Given the description of an element on the screen output the (x, y) to click on. 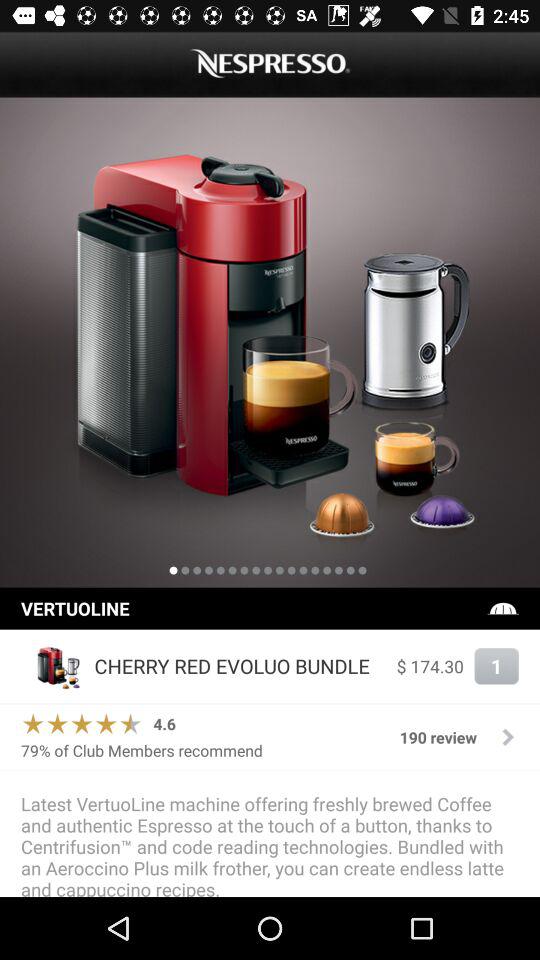
press the item next to 4.6 item (81, 723)
